Given the description of an element on the screen output the (x, y) to click on. 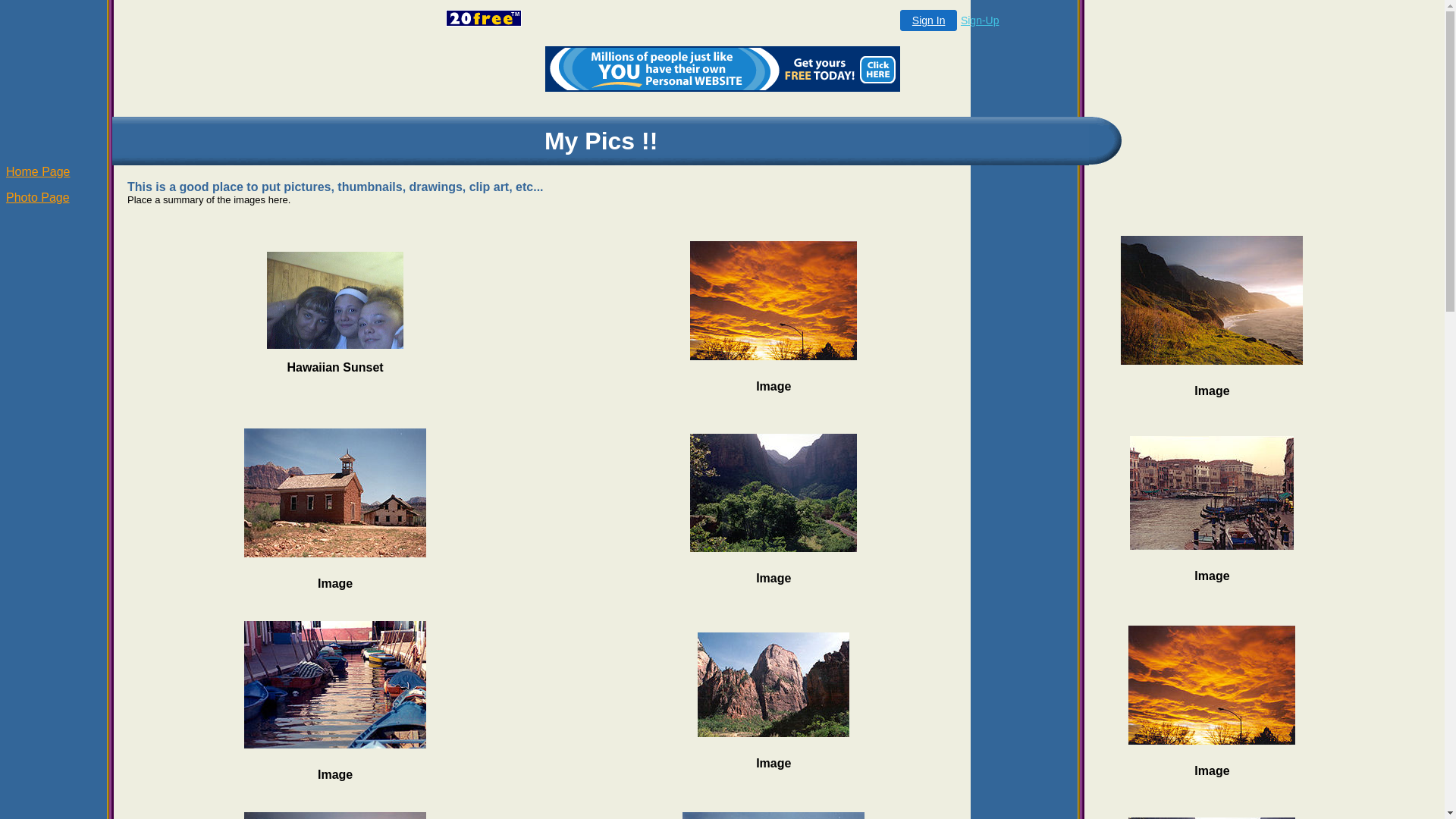
Photo Page Element type: text (37, 197)
Sign In Element type: text (928, 20)
Home Page Element type: text (38, 171)
Sign-Up Element type: text (979, 20)
